Given the description of an element on the screen output the (x, y) to click on. 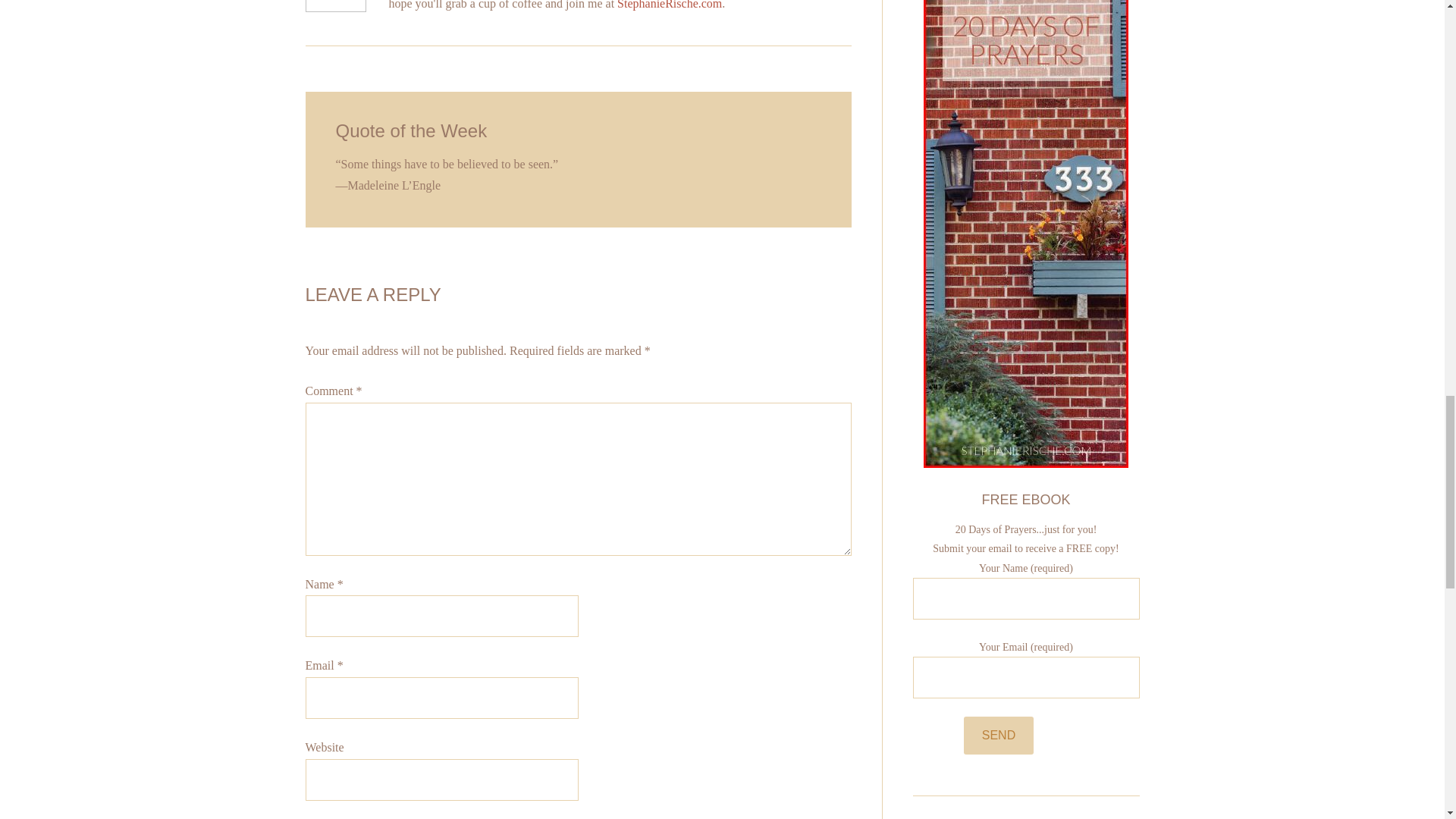
Send (998, 735)
Send (998, 735)
StephanieRische.com (669, 4)
